Given the description of an element on the screen output the (x, y) to click on. 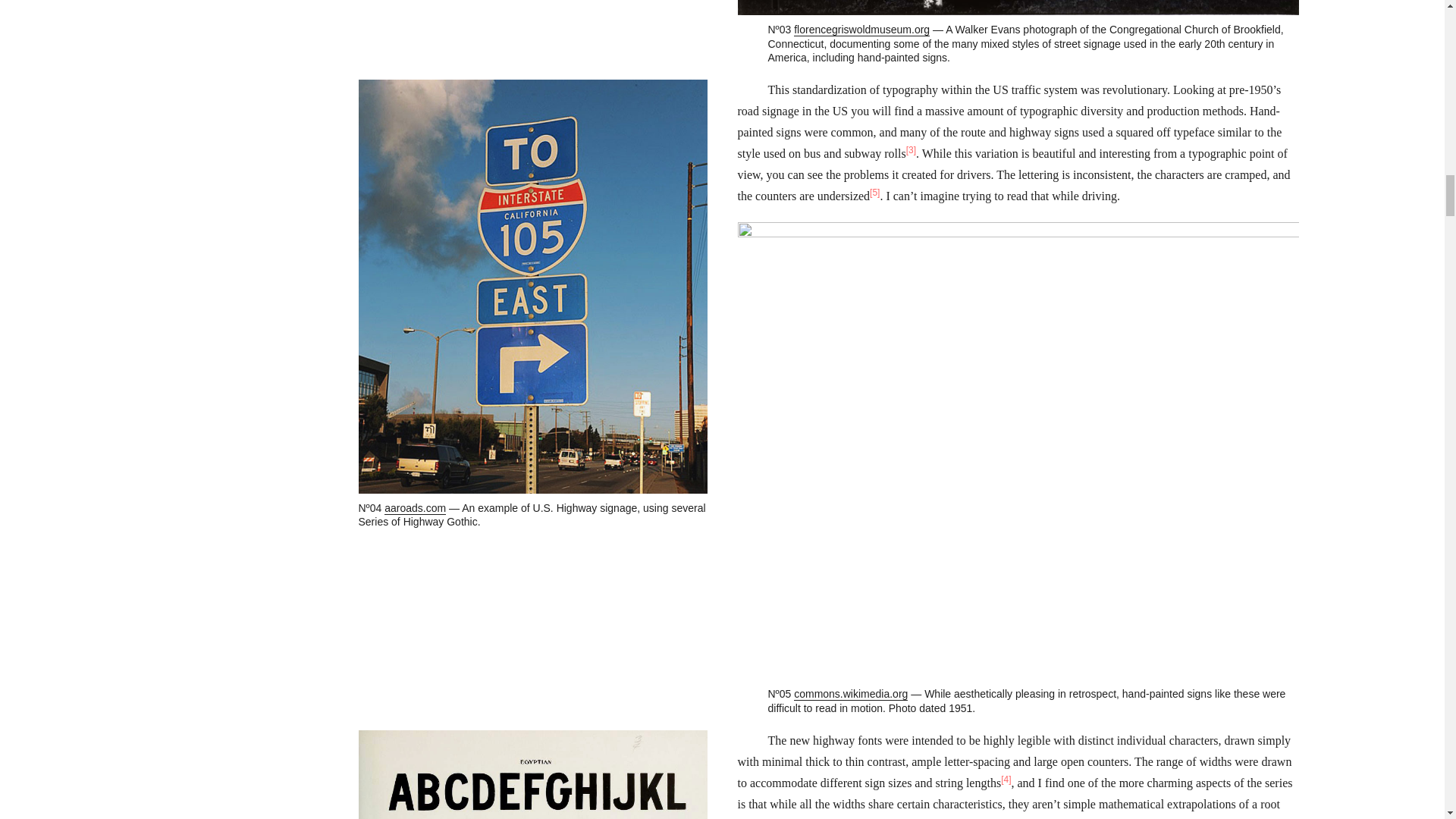
florencegriswoldmuseum.org (861, 29)
commons.wikimedia.org (850, 694)
aaroads.com (414, 508)
